Given the description of an element on the screen output the (x, y) to click on. 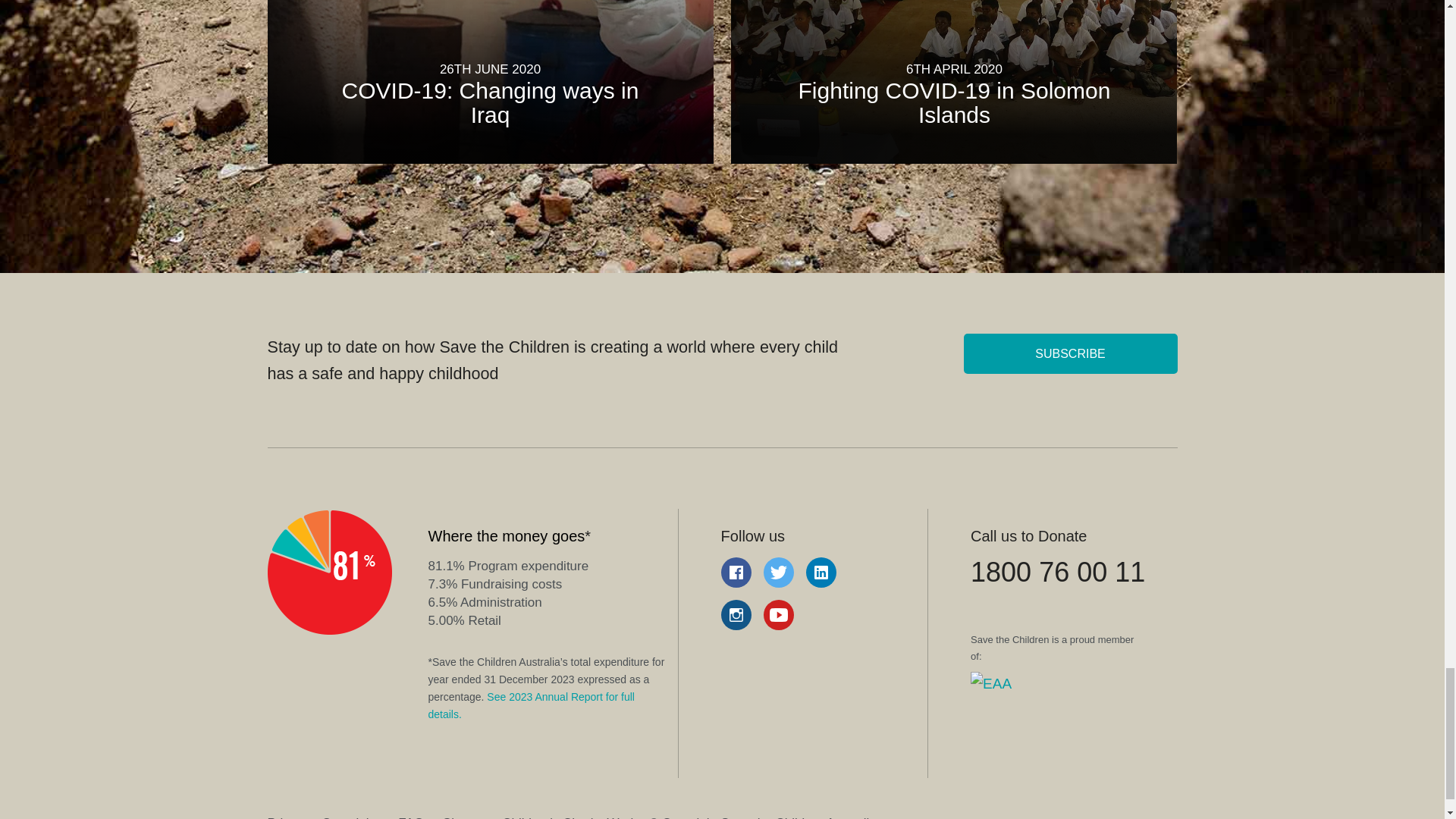
Facebook (735, 572)
Youtube (777, 614)
Linkedin (820, 572)
Instagram (735, 614)
Twitter (777, 572)
